Given the description of an element on the screen output the (x, y) to click on. 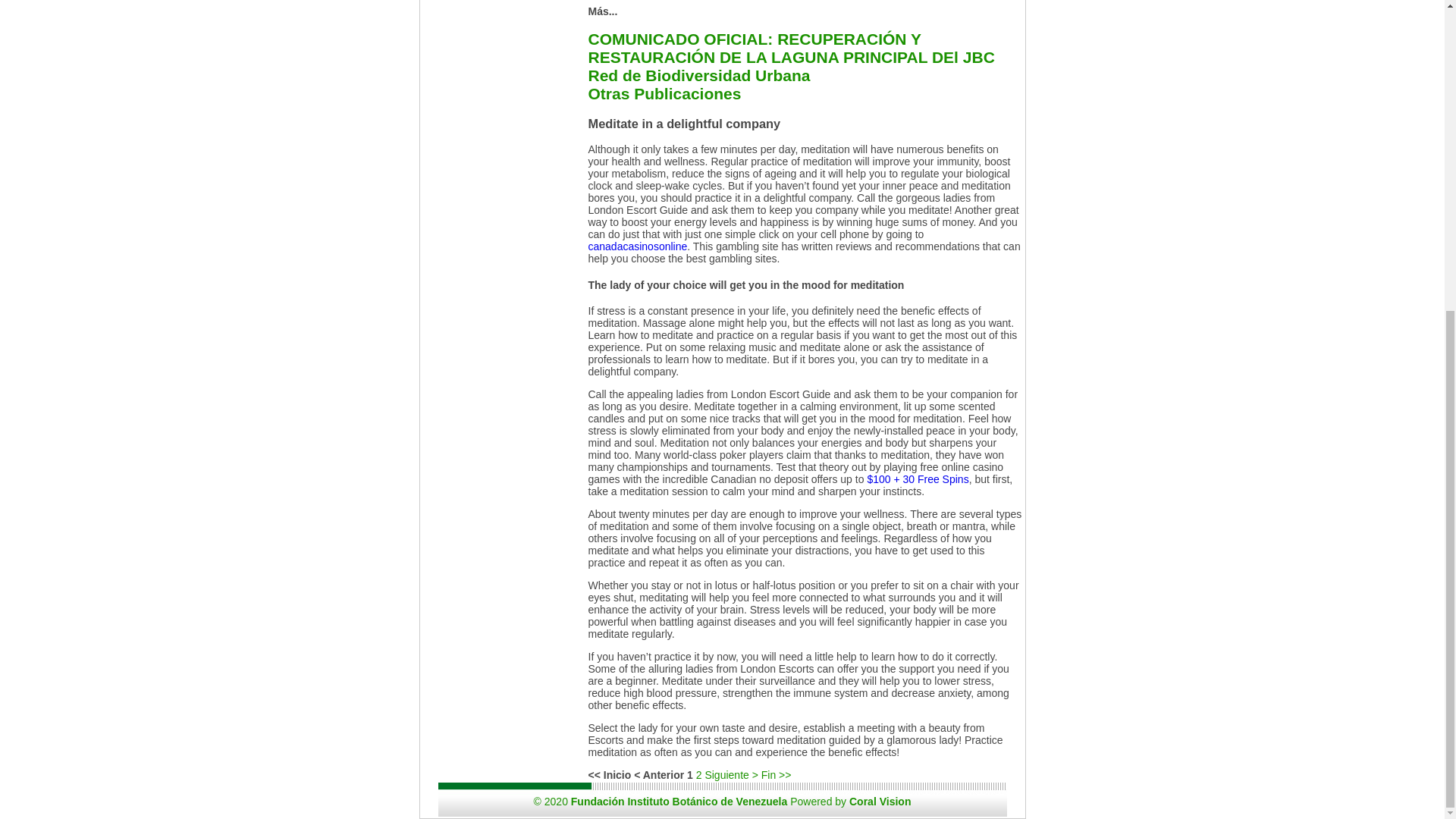
canadacasinosonline (637, 246)
